Given the description of an element on the screen output the (x, y) to click on. 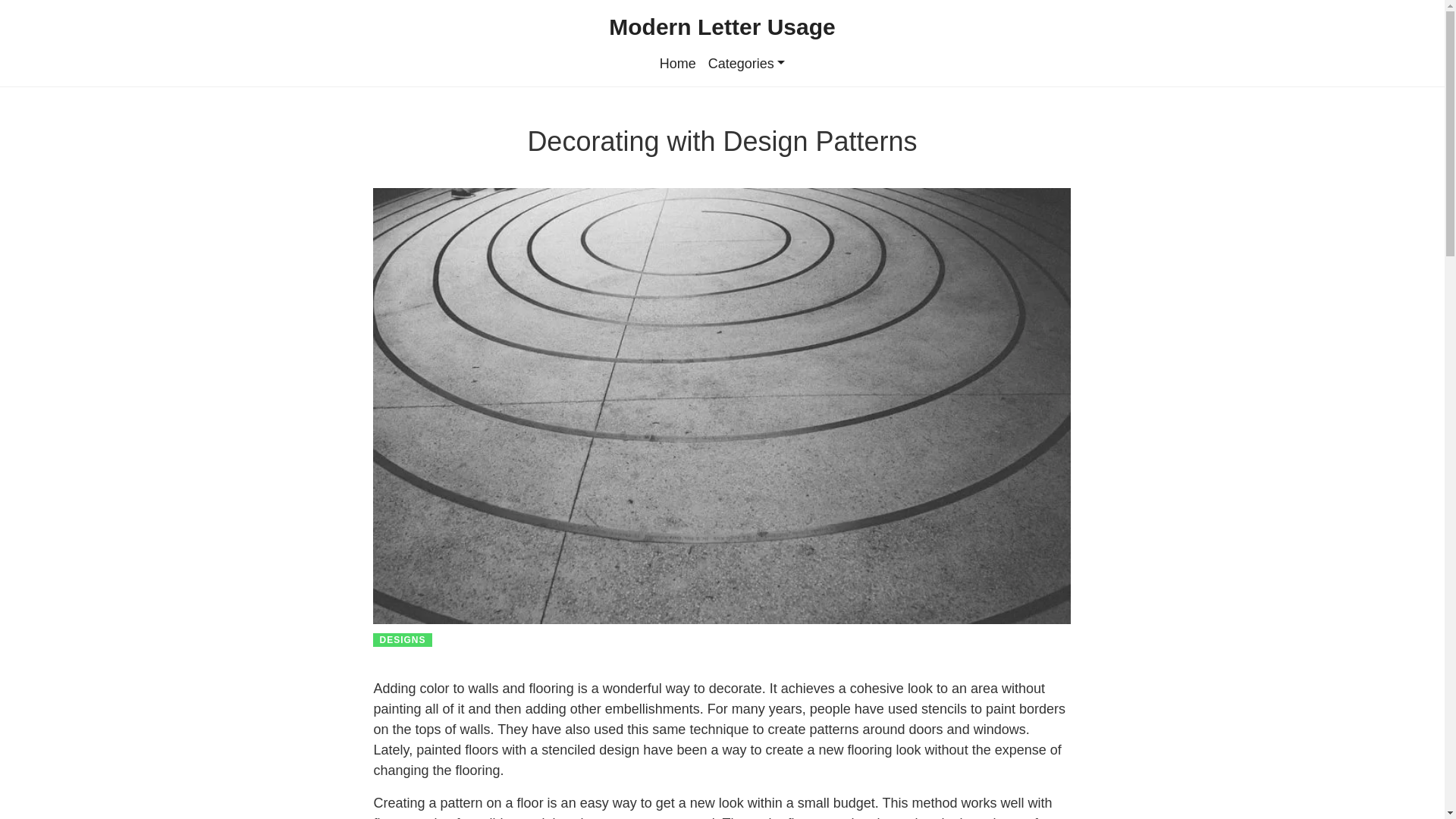
DESIGNS (401, 639)
Modern Letter Usage (721, 26)
Home (677, 63)
Categories (746, 63)
